Given the description of an element on the screen output the (x, y) to click on. 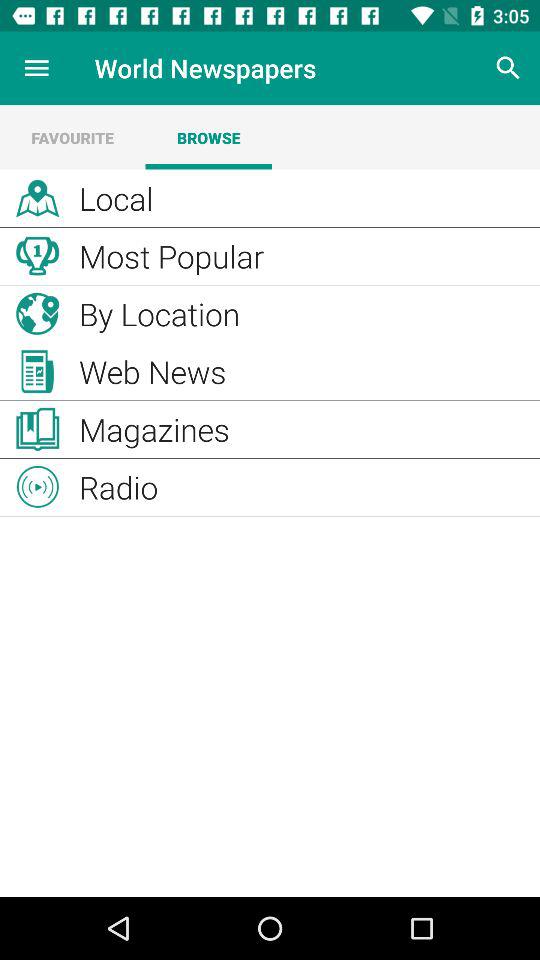
choose item next to the world newspapers icon (36, 68)
